Given the description of an element on the screen output the (x, y) to click on. 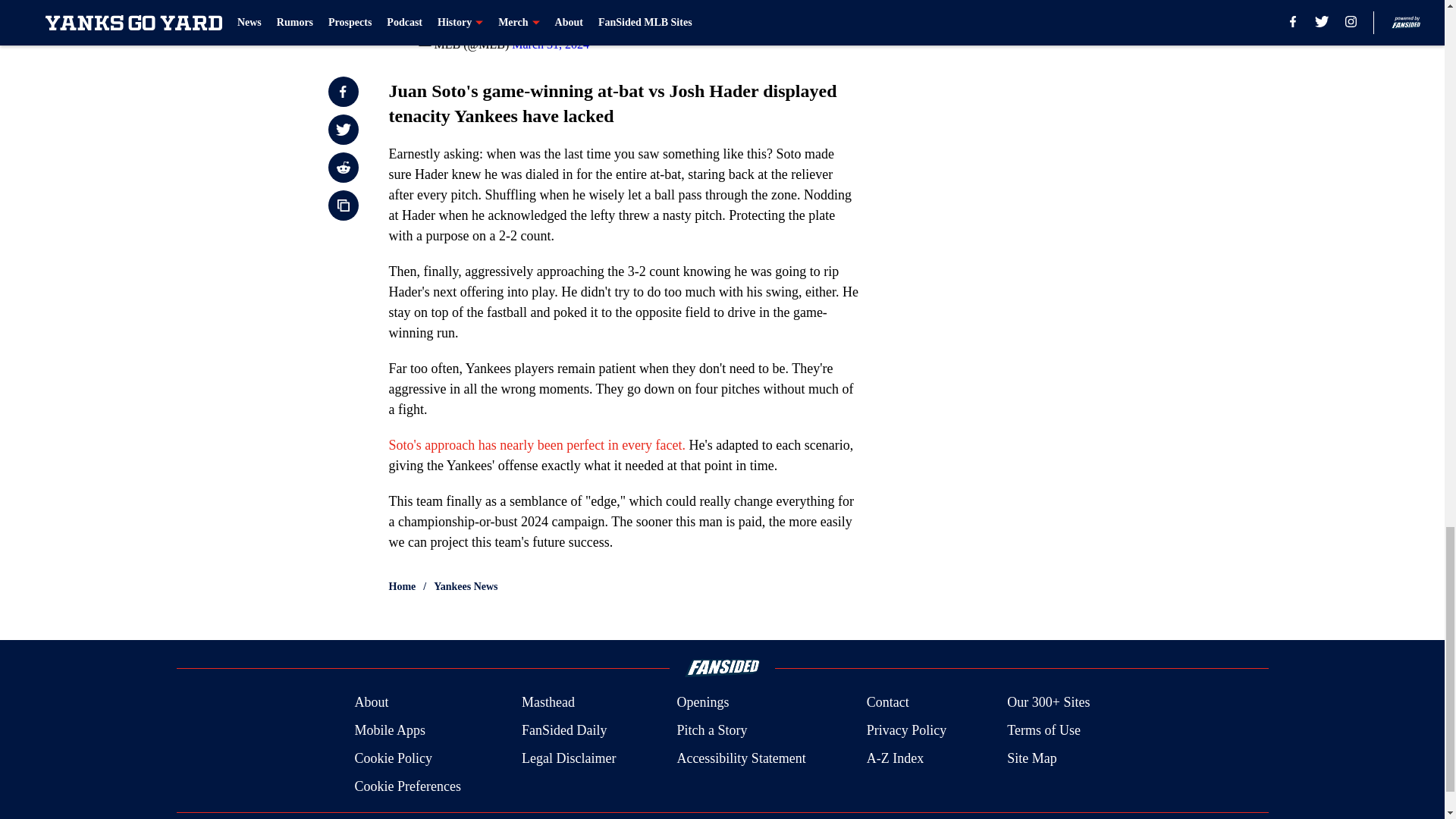
Pitch a Story (711, 730)
Mobile Apps (389, 730)
Masthead (548, 702)
Openings (703, 702)
March 31, 2024 (550, 43)
Soto's approach has nearly been perfect in every facet. (536, 444)
FanSided Daily (564, 730)
Home (401, 586)
Contact (887, 702)
About (370, 702)
